Given the description of an element on the screen output the (x, y) to click on. 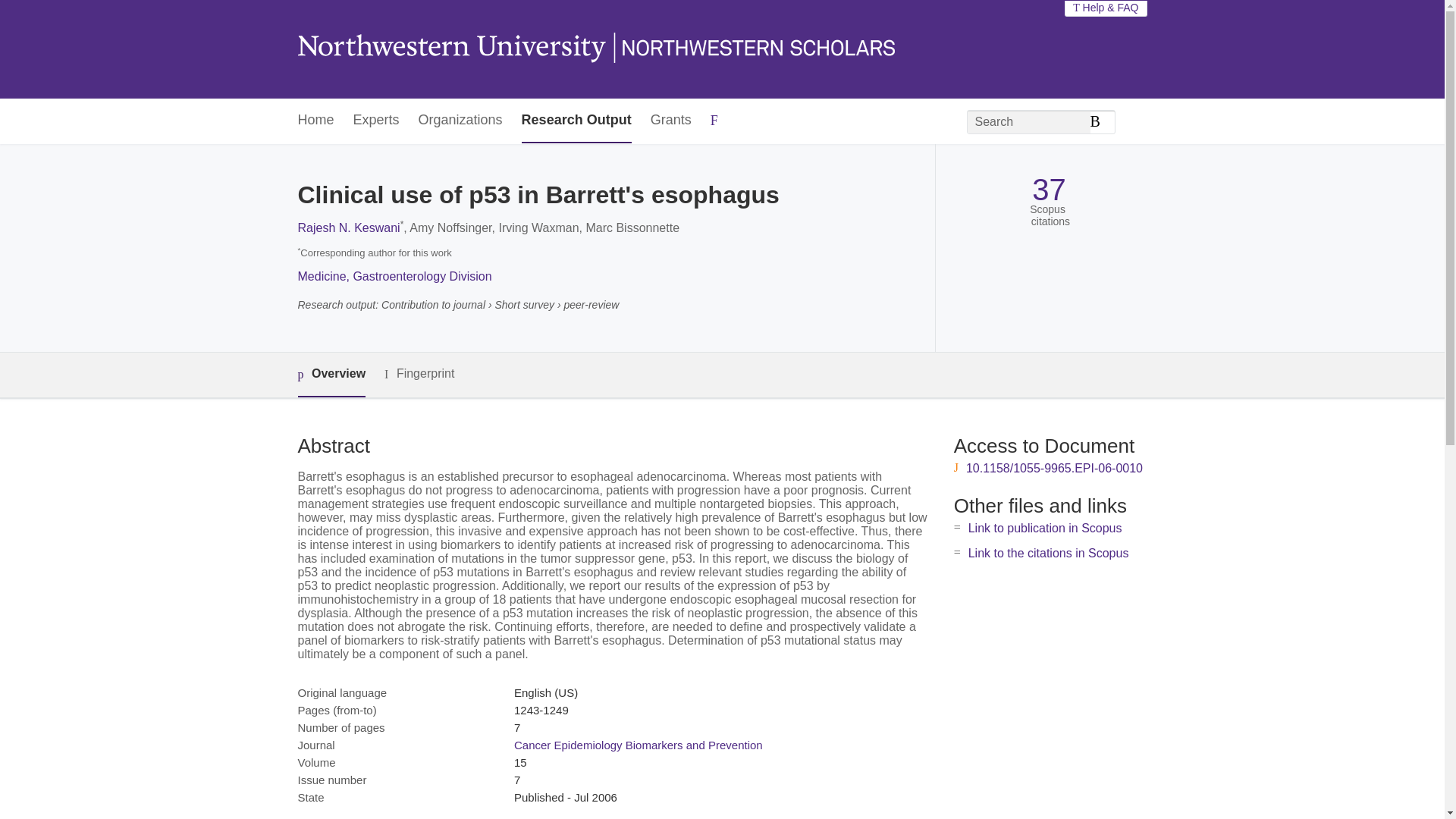
Cancer Epidemiology Biomarkers and Prevention (637, 744)
Rajesh N. Keswani (347, 227)
Link to publication in Scopus (1045, 527)
Northwestern Scholars Home (595, 49)
Organizations (460, 120)
Grants (670, 120)
Medicine, Gastroenterology Division (394, 276)
Research Output (576, 120)
37 (1048, 189)
Experts (375, 120)
